Given the description of an element on the screen output the (x, y) to click on. 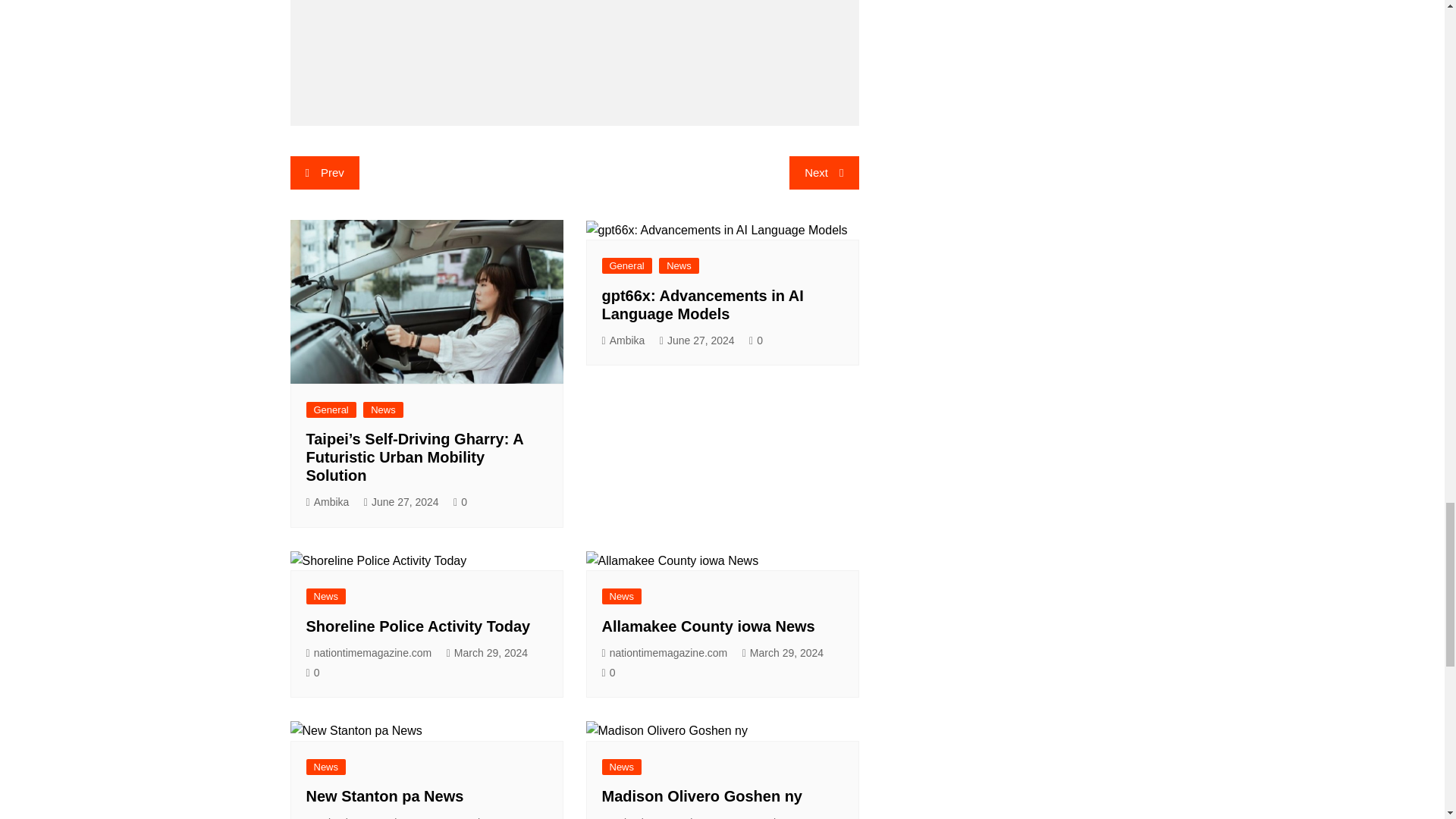
General (330, 409)
nationtimemagazine.com (368, 652)
News (678, 265)
Next (824, 172)
Shoreline Police Activity Today (418, 626)
Ambika (623, 340)
News (382, 409)
June 27, 2024 (697, 340)
Ambika (327, 502)
News (325, 596)
